Given the description of an element on the screen output the (x, y) to click on. 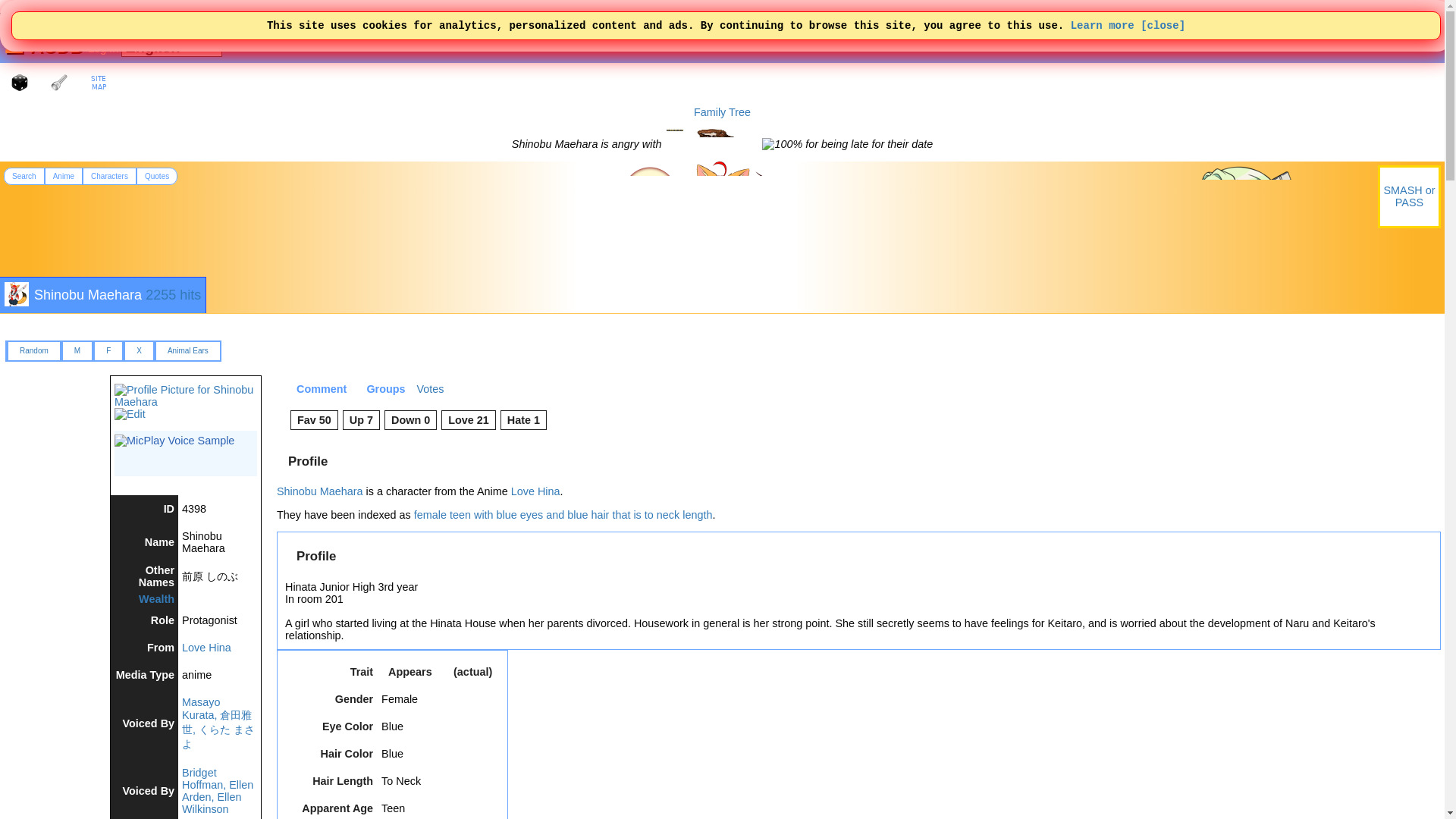
Bridget Hoffman, Ellen Arden, Ellen Wilkinson (217, 790)
Quotes (156, 176)
Shinobu Maehara (87, 294)
Site Map (98, 82)
SMASH or PASS (1408, 196)
Edit (130, 413)
ACDB (55, 46)
Family Tree (722, 111)
Animal Ears (187, 350)
Anime (63, 176)
